Given the description of an element on the screen output the (x, y) to click on. 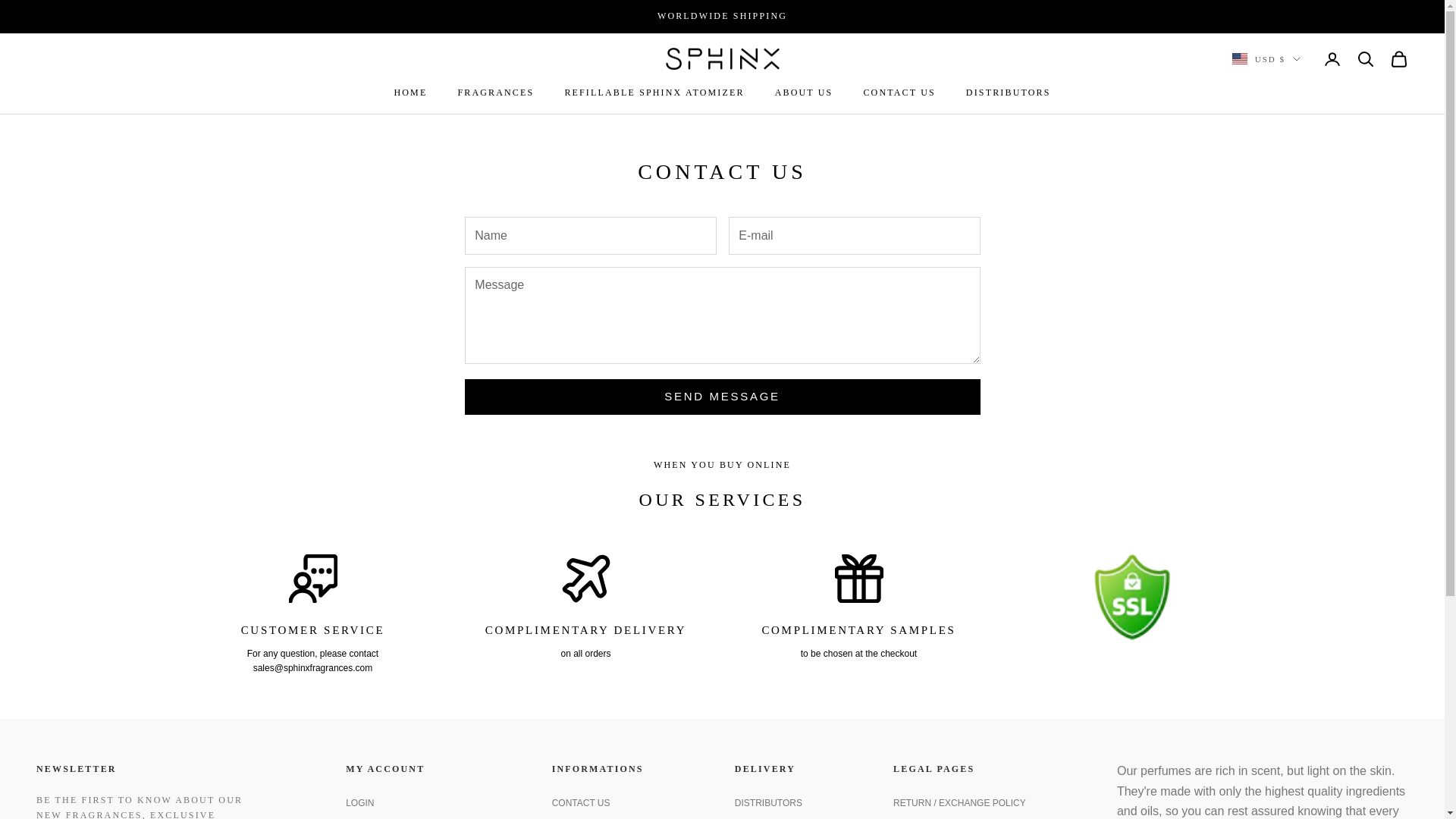
ABOUT US (803, 92)
DISTRIBUTORS (1008, 92)
CONTACT US (898, 92)
REFILLABLE SPHINX ATOMIZER (654, 92)
HOME (409, 92)
Sphinx Cosmetics (721, 58)
